Given the description of an element on the screen output the (x, y) to click on. 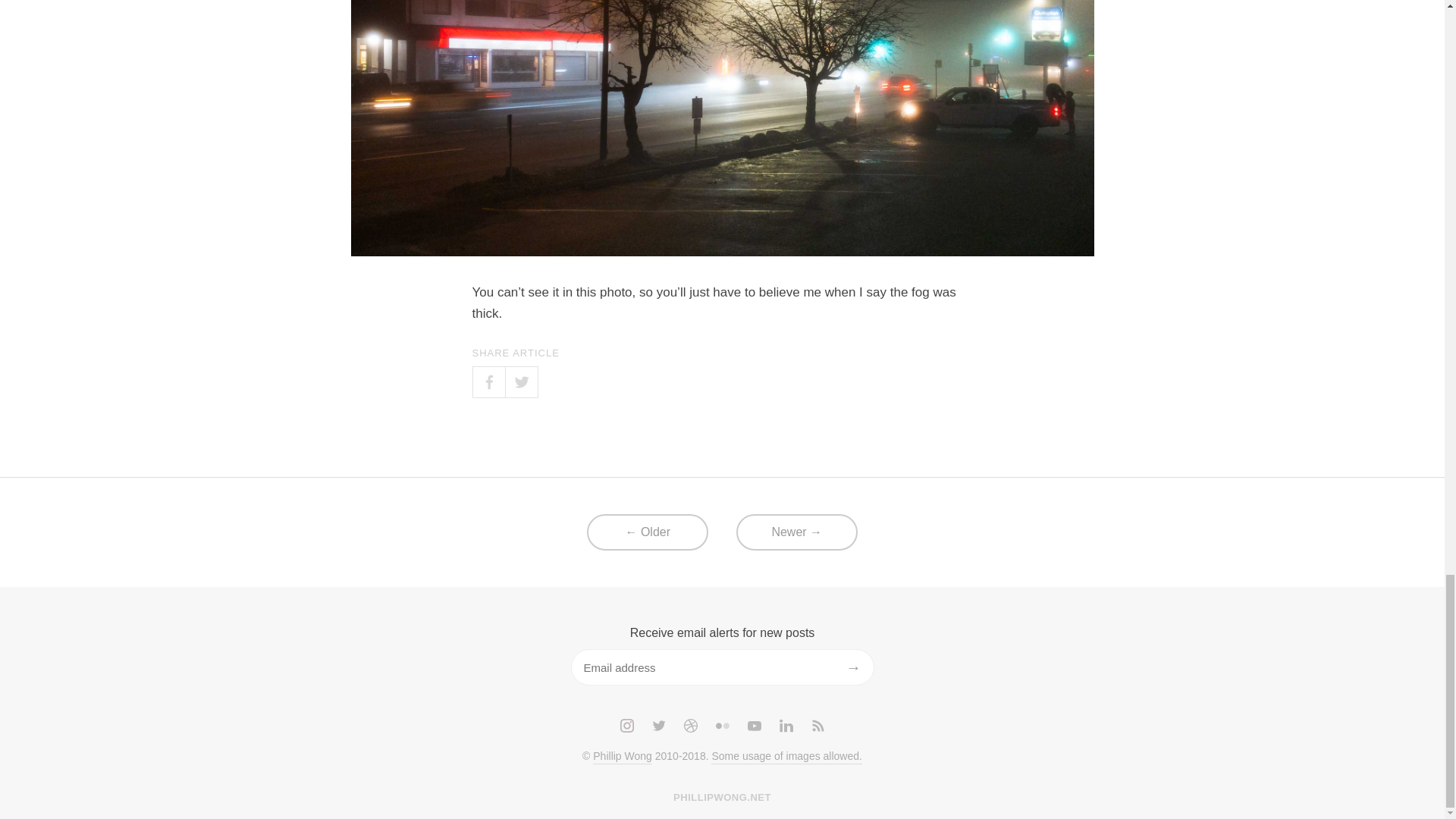
Personal site of Phillip Wong (622, 757)
Phillip Wong (622, 757)
PHILLIPWONG.NET (721, 797)
Some usage of images allowed. (786, 757)
Licensing (786, 757)
